Given the description of an element on the screen output the (x, y) to click on. 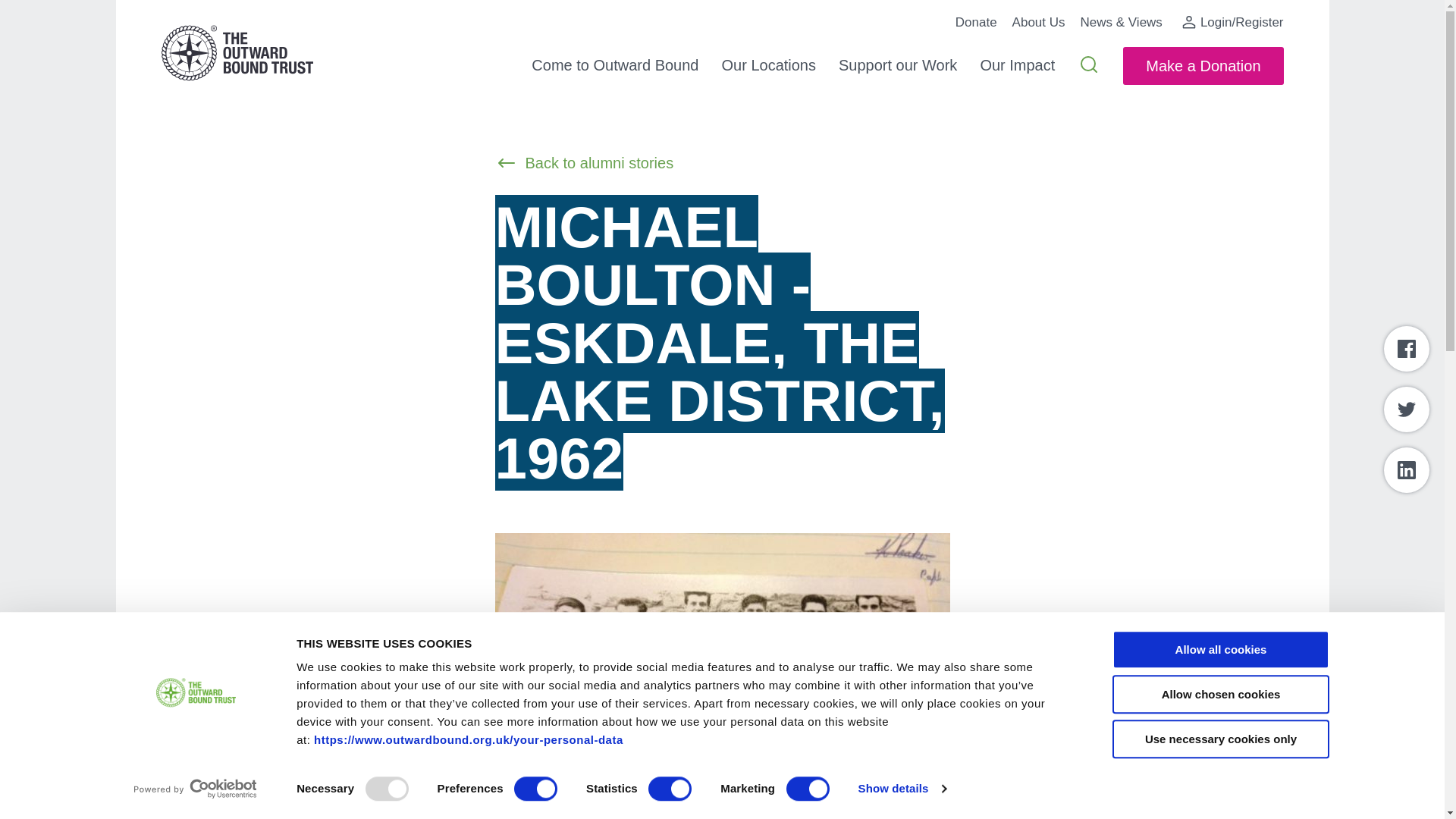
Show details (900, 789)
